Given the description of an element on the screen output the (x, y) to click on. 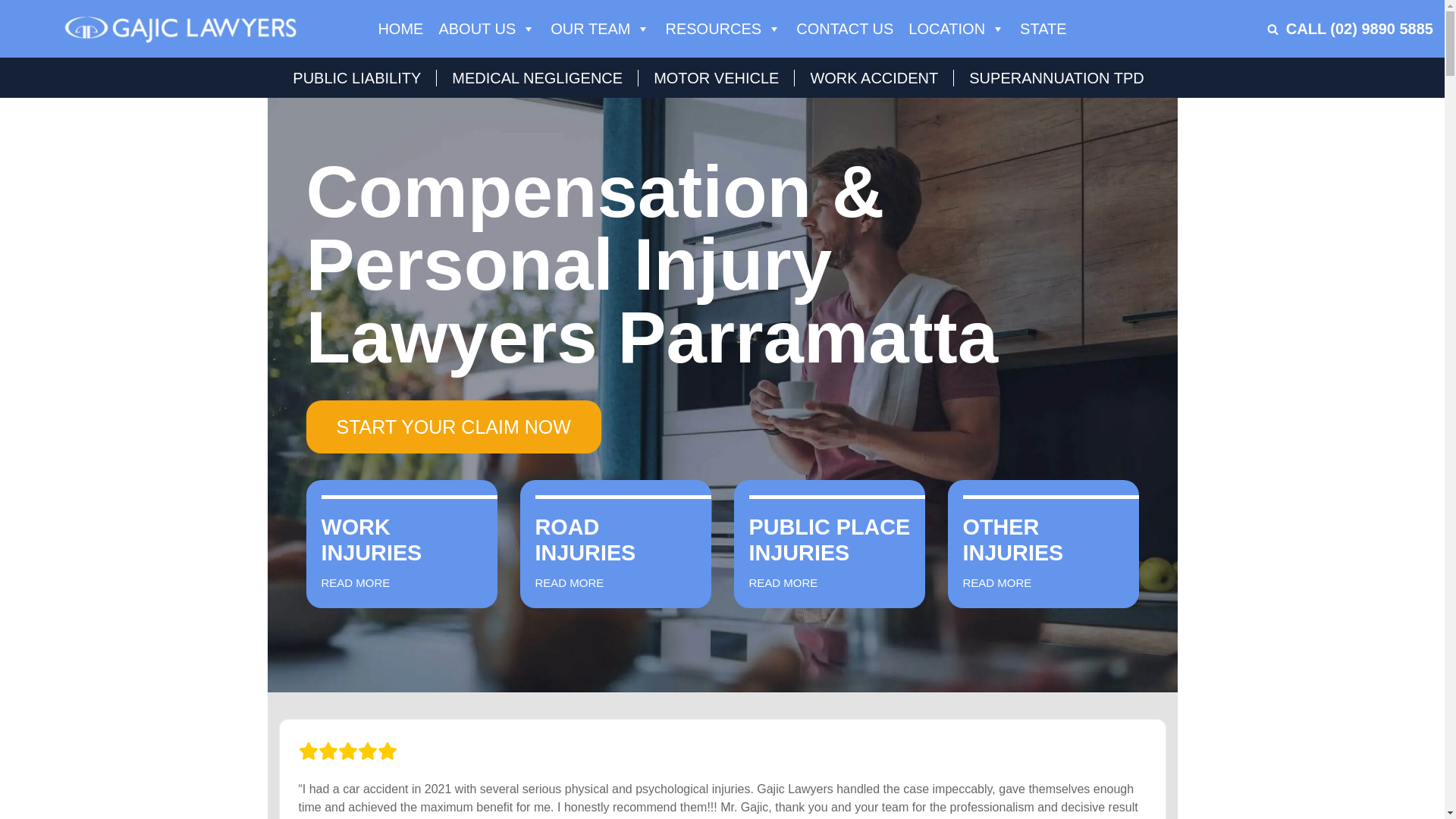
PUBLIC PLACE INJURIES
READ MORE Element type: text (829, 544)
STATE Element type: text (1042, 28)
MEDICAL NEGLIGENCE Element type: text (536, 77)
LOCATION Element type: text (956, 28)
WORK ACCIDENT Element type: text (873, 77)
OUR TEAM Element type: text (599, 28)
ABOUT US Element type: text (486, 28)
RESOURCES Element type: text (722, 28)
SUPERANNUATION TPD Element type: text (1055, 77)
OTHER
INJURIES
READ MORE Element type: text (1043, 544)
PUBLIC LIABILITY Element type: text (360, 77)
Skip to content Element type: text (11, 31)
WORK
INJURIES
READ MORE Element type: text (401, 544)
CONTACT US Element type: text (844, 28)
CALL (02) 9890 5885 Element type: text (1359, 28)
HOME Element type: text (400, 28)
ROAD
INJURIES
READ MORE Element type: text (615, 544)
START YOUR CLAIM NOW Element type: text (453, 426)
MOTOR VEHICLE Element type: text (715, 77)
